Given the description of an element on the screen output the (x, y) to click on. 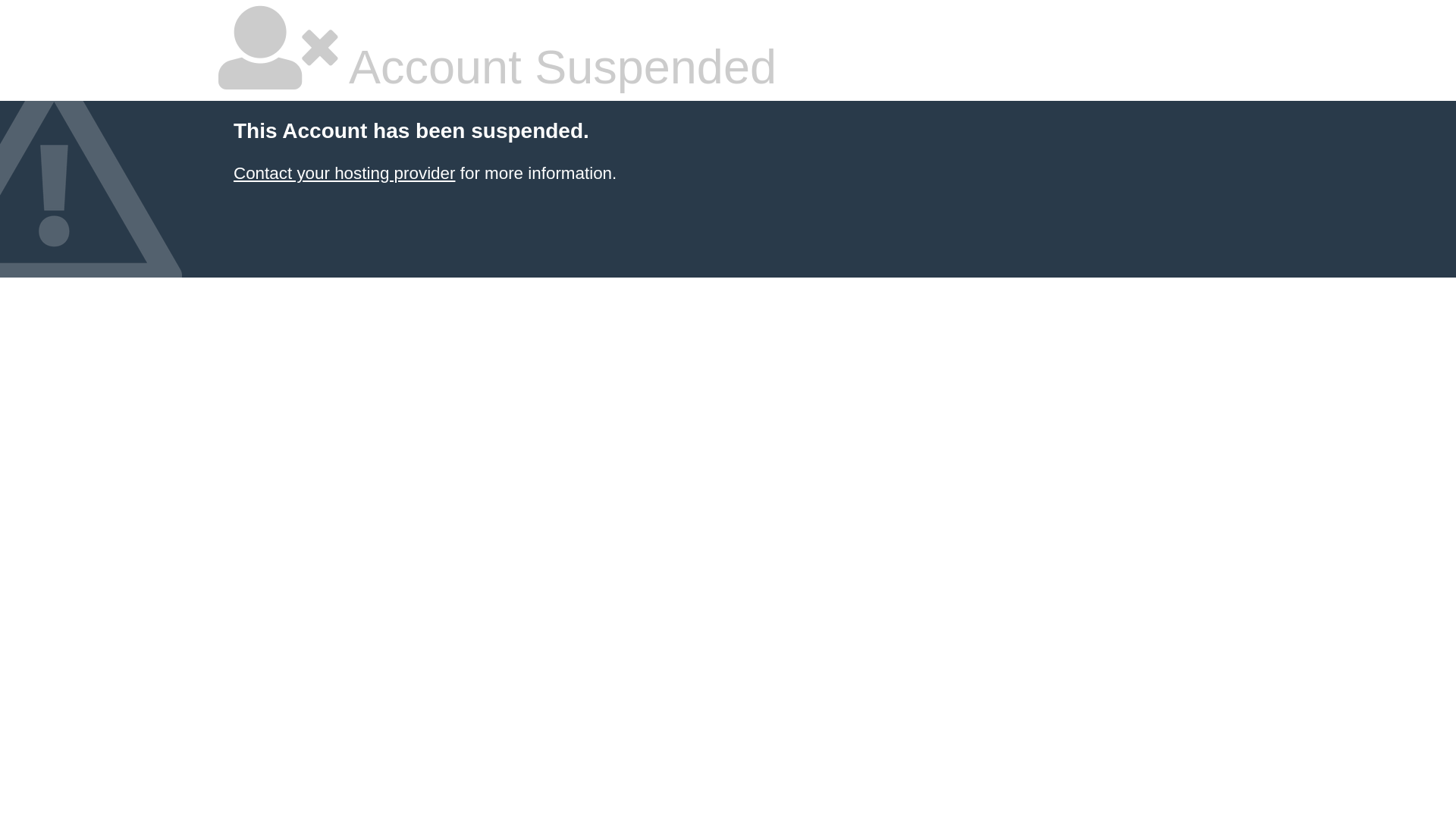
Contact your hosting provider Element type: text (344, 172)
